Given the description of an element on the screen output the (x, y) to click on. 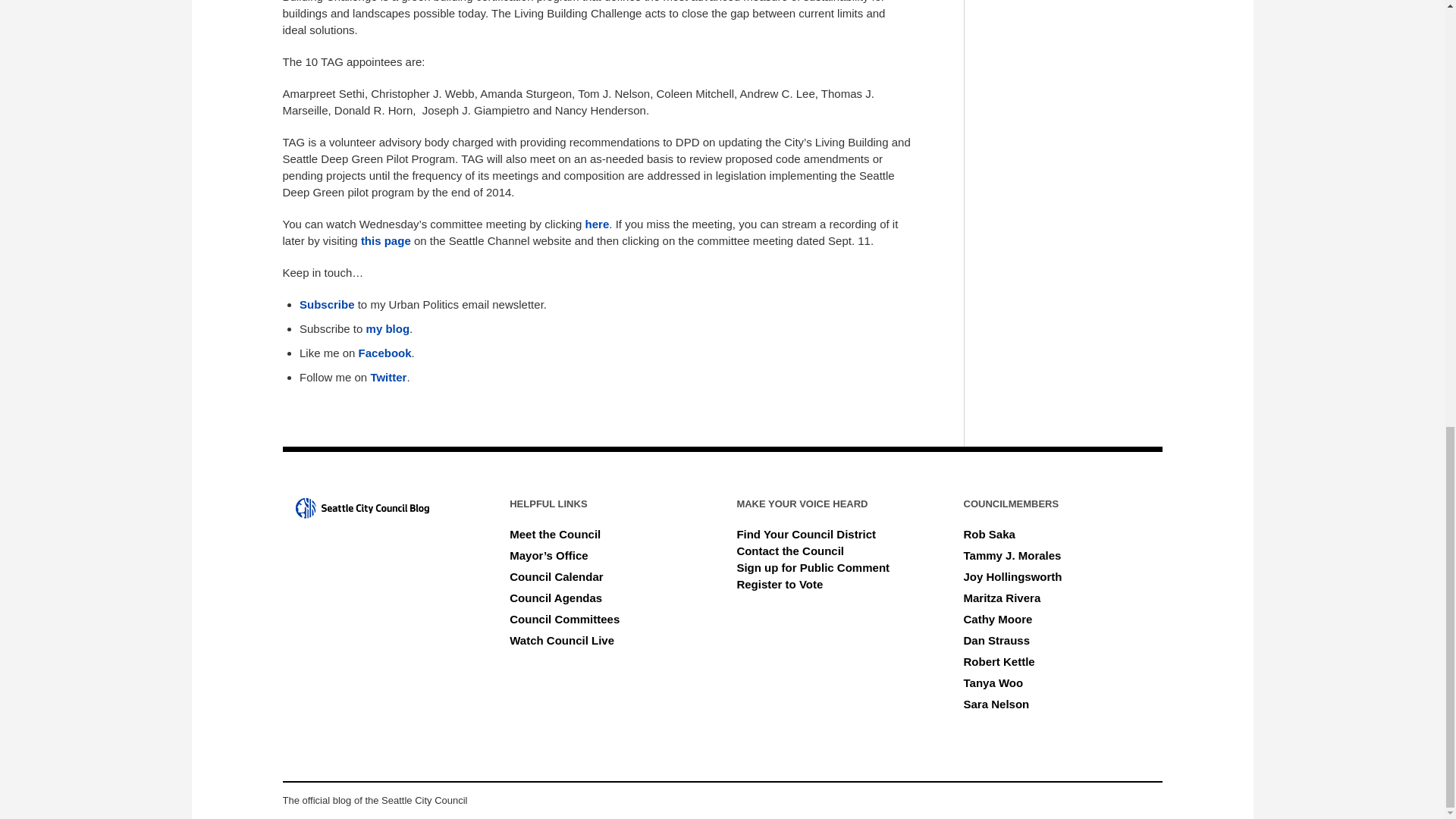
Council Calendar (555, 576)
here (597, 223)
Council Committees (564, 618)
Find Your Council District (806, 533)
Subscribe (328, 304)
Twitter (387, 377)
Council Agendas (555, 597)
this page (385, 240)
Meet the Council (554, 533)
my blog (388, 328)
